Given the description of an element on the screen output the (x, y) to click on. 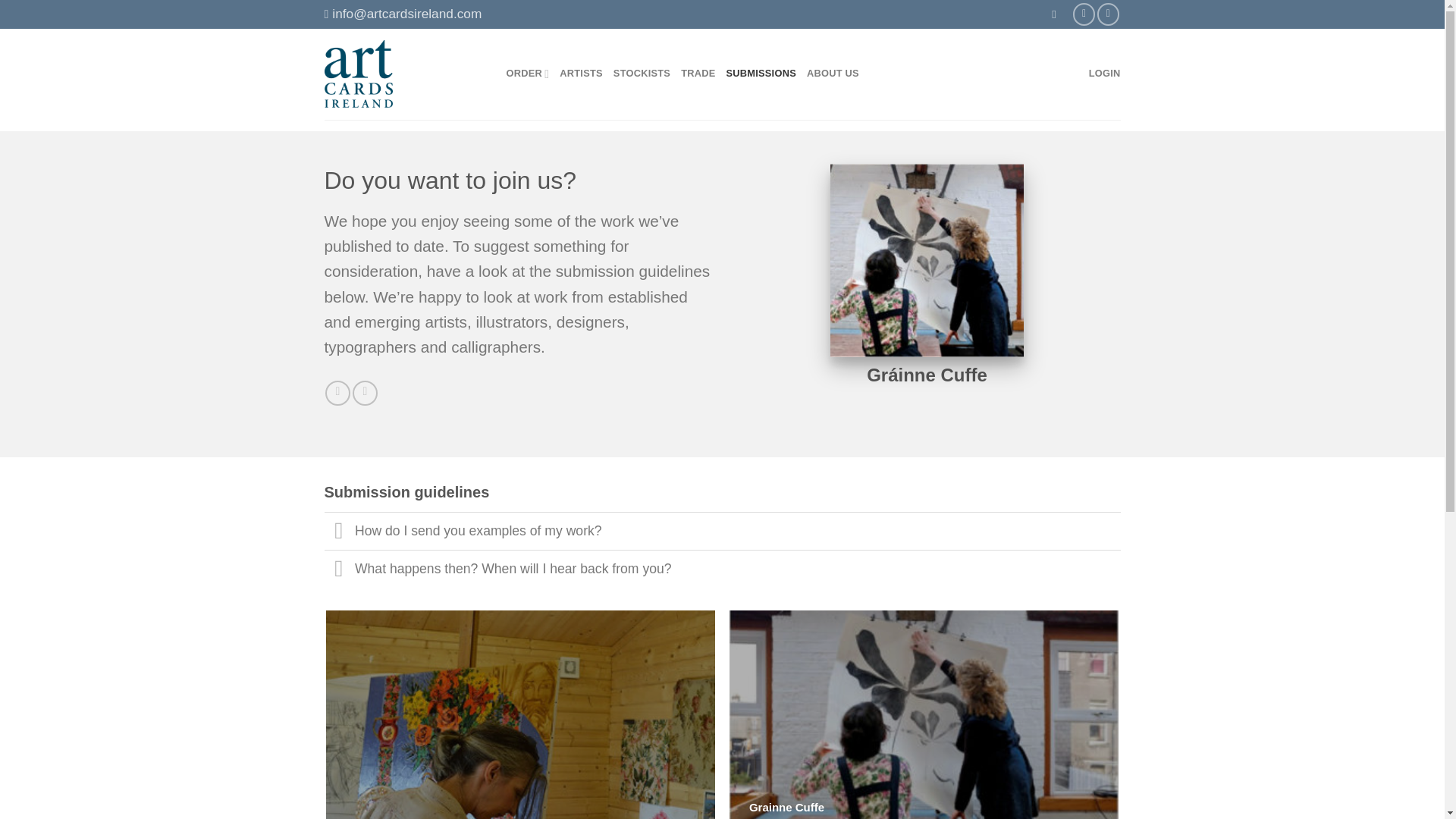
Login (1105, 73)
Art Cards Ireland - Art Cards Ireland (358, 73)
Follow on Facebook (337, 392)
Contact (402, 14)
Follow on Facebook (1083, 14)
Follow on Instagram (364, 392)
ORDER (528, 73)
Follow on Instagram (1108, 14)
